Given the description of an element on the screen output the (x, y) to click on. 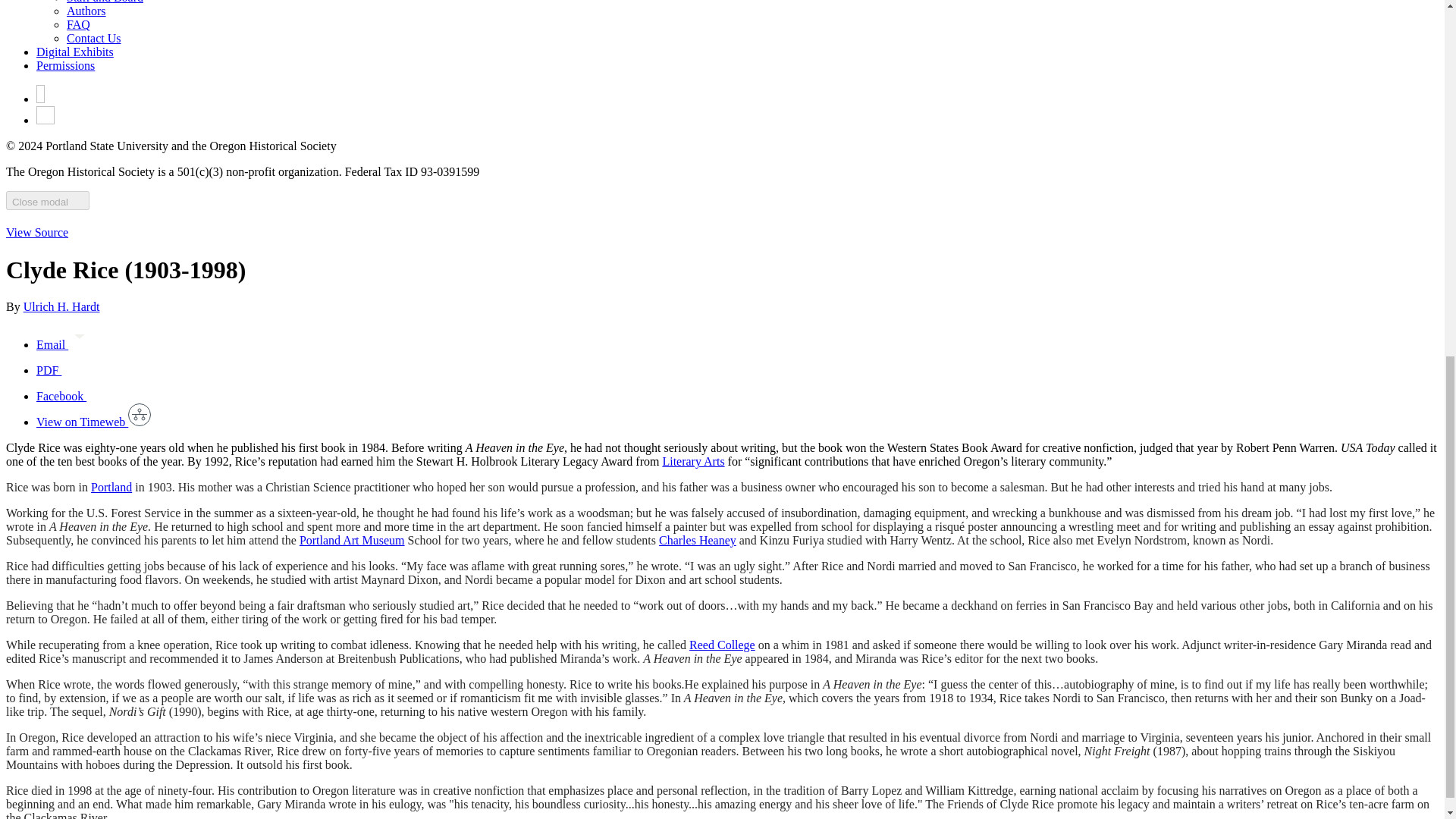
Download a printable version of this article (60, 369)
Share this article on Facebook (72, 395)
Contact Us (93, 38)
View this article on Oregon Timeweb (93, 421)
Permissions (65, 65)
Close modal (46, 199)
Authors (86, 10)
Staff and Board (104, 2)
FAQ (78, 24)
Email a link to this article (63, 344)
